Given the description of an element on the screen output the (x, y) to click on. 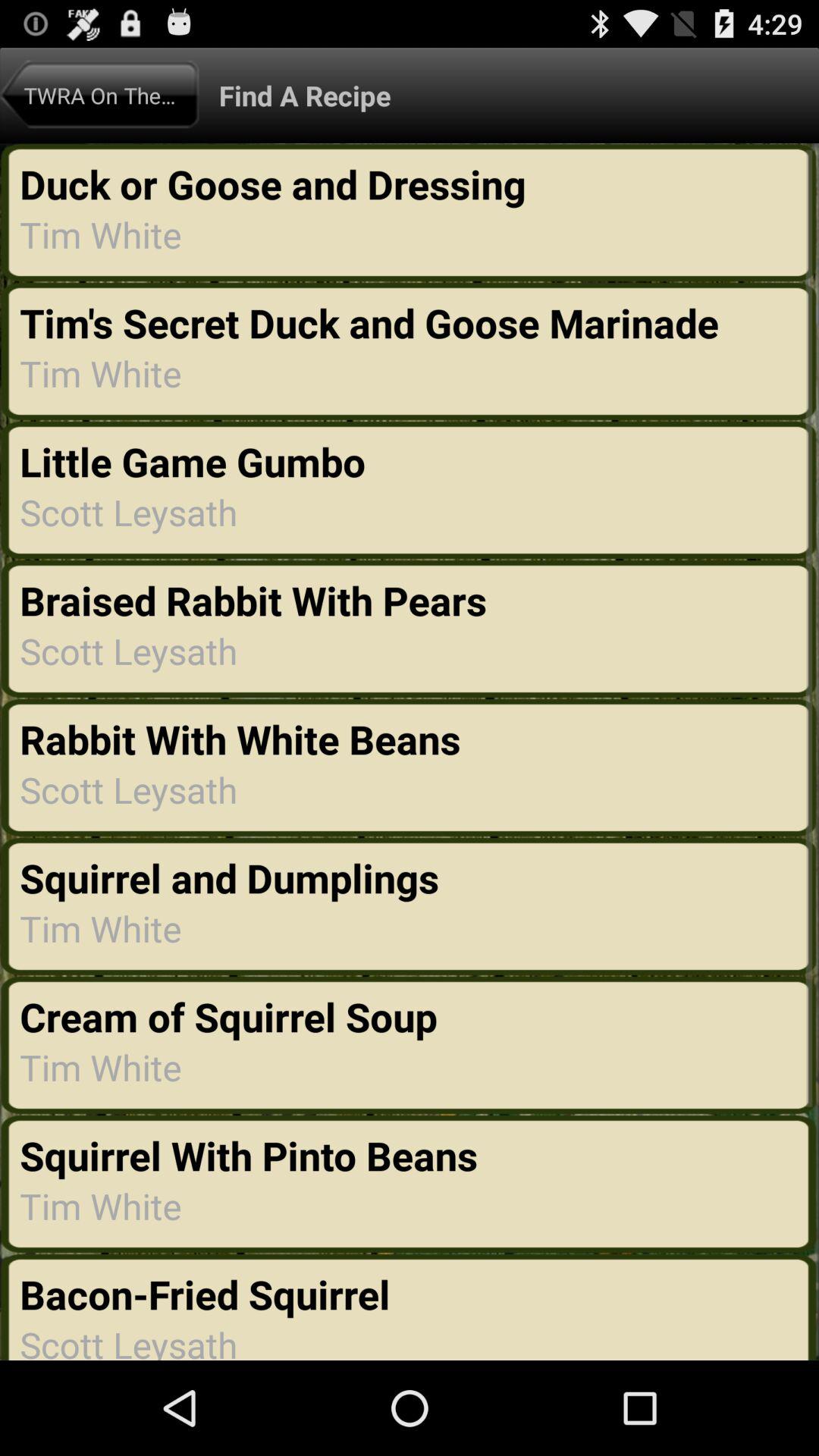
press tim s secret app (373, 322)
